Given the description of an element on the screen output the (x, y) to click on. 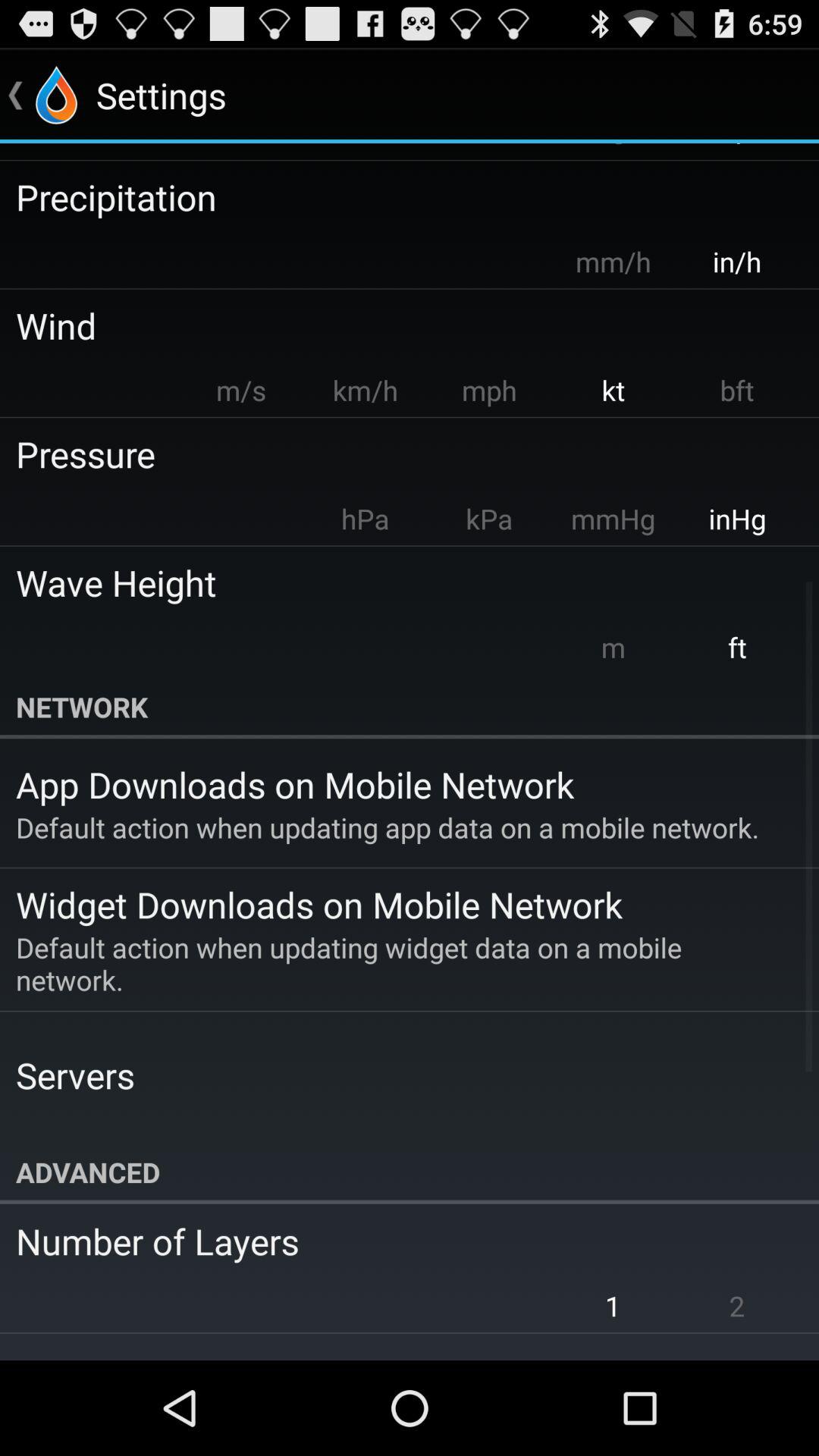
turn off app above the wave height (737, 518)
